Given the description of an element on the screen output the (x, y) to click on. 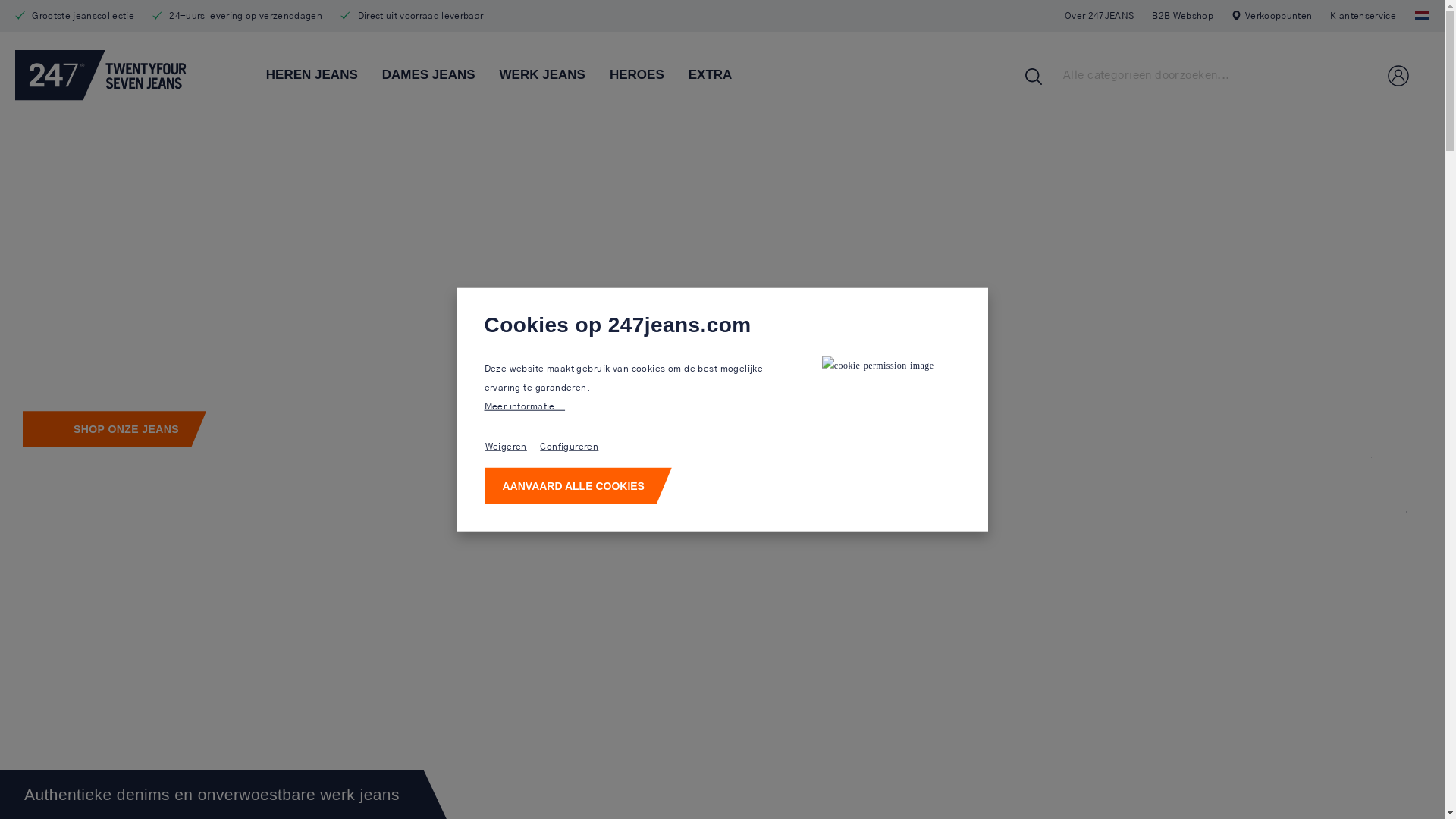
Logo blauw Element type: text (100, 74)
Configureren Element type: text (573, 445)
DAMES JEANS Element type: text (440, 75)
EXTRA Element type: text (722, 75)
SHOP ONZE JEANS Element type: text (114, 429)
Over 247JEANS Element type: text (1098, 15)
Mijn account Element type: hover (1397, 74)
REGULAR FIT Element type: text (1341, 421)
WERK JEANS Element type: text (554, 75)
SLIM FIT Element type: text (1322, 449)
WERK JEANS Element type: text (1339, 503)
Winkelmand Element type: hover (1422, 75)
HEREN JEANS Element type: text (324, 75)
Meer informatie... Element type: text (636, 405)
B2B Webshop Element type: text (1182, 15)
Klantenservice Element type: text (1363, 15)
Weigeren Element type: text (509, 445)
SKINNY FIT Element type: text (1332, 476)
Verkooppunten Element type: text (1271, 15)
AANVAARD ALLE COOKIES Element type: text (577, 485)
HEROES Element type: text (648, 75)
